Given the description of an element on the screen output the (x, y) to click on. 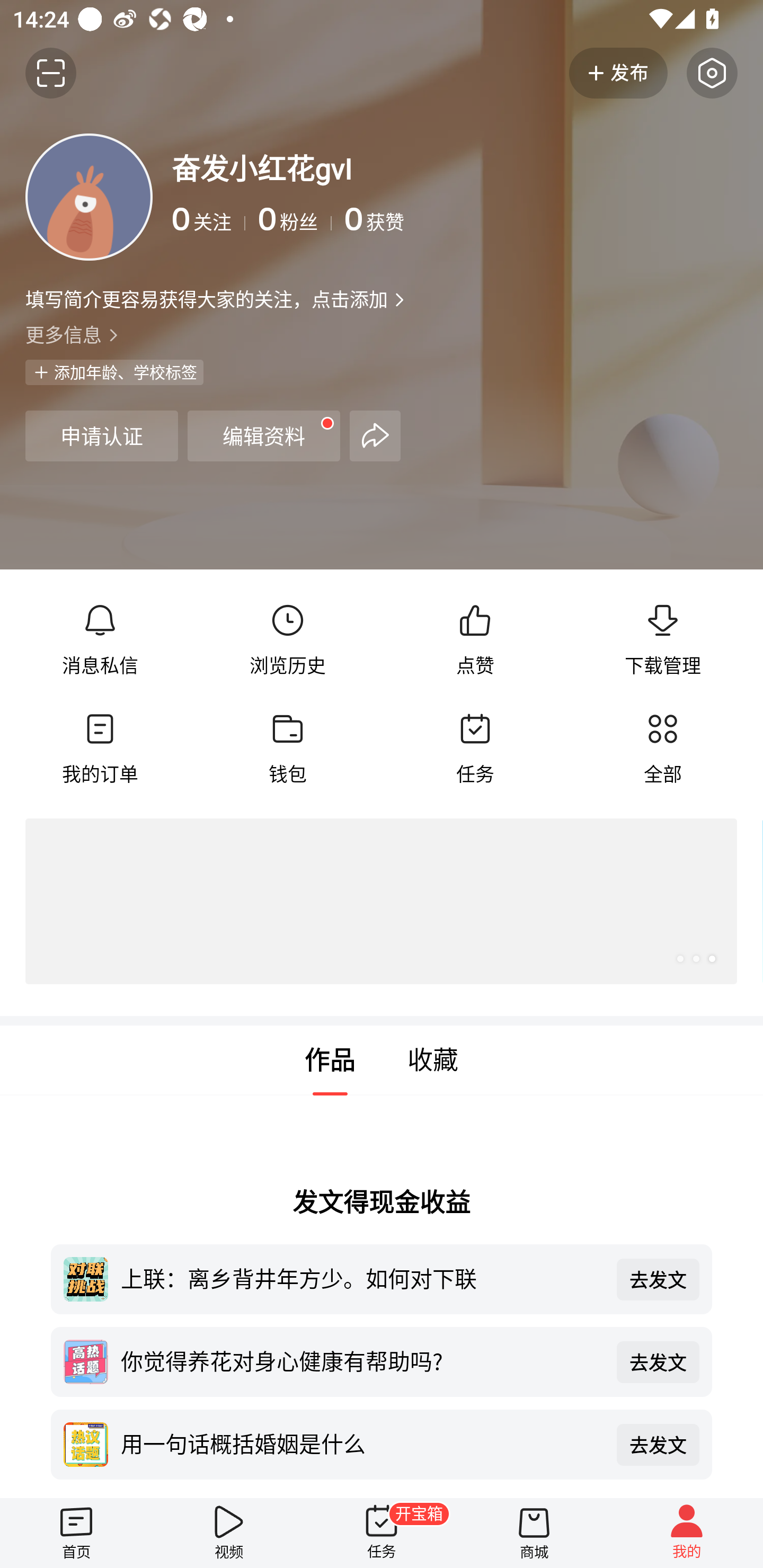
扫一扫 (50, 72)
发布 (618, 72)
设置 (711, 72)
头像 (88, 196)
0 关注 (208, 219)
0 粉丝 (294, 219)
0 获赞 (540, 219)
填写简介更容易获得大家的关注，点击添加 (206, 298)
更多信息 (381, 333)
添加年龄、学校标签 (114, 372)
申请认证 (101, 435)
编辑资料 (263, 435)
分享 (374, 435)
消息私信 (99, 639)
浏览历史 (287, 639)
点赞 (475, 639)
下载管理 (662, 639)
我的订单 (99, 748)
钱包 (287, 748)
任务 (475, 748)
全部 (662, 748)
作品 (329, 1060)
收藏 (432, 1060)
上联：离乡背井年方少。如何对下联 (362, 1278)
去发文 (657, 1279)
你觉得养花对身心健康有帮助吗? (362, 1360)
去发文 (657, 1361)
用一句话概括婚姻是什么 (362, 1443)
去发文 (657, 1444)
首页 (76, 1532)
视频 (228, 1532)
任务 开宝箱 (381, 1532)
商城 (533, 1532)
我的 (686, 1532)
